Given the description of an element on the screen output the (x, y) to click on. 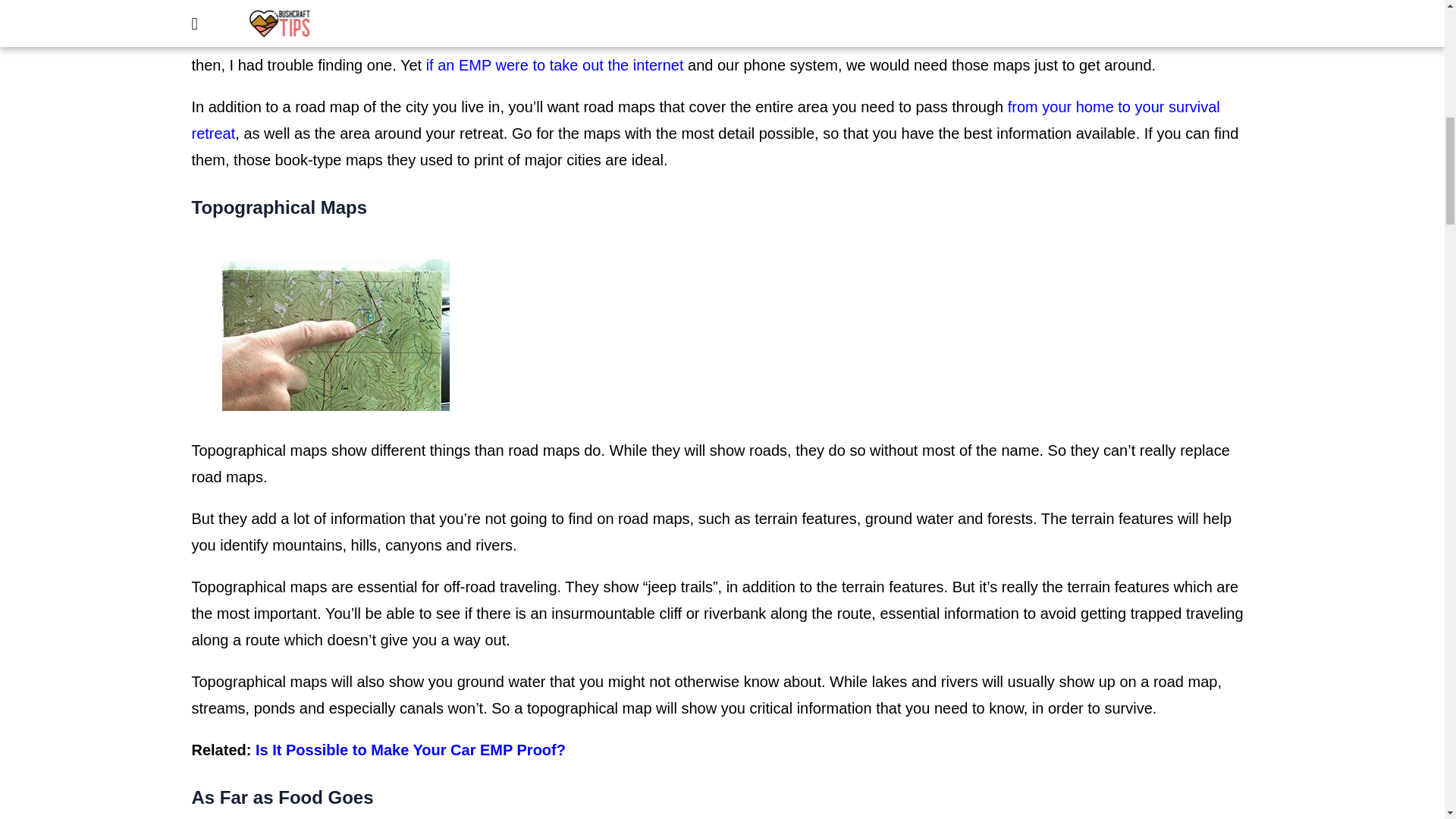
Is It Possible to Make Your Car EMP Proof? (411, 750)
if an EMP were to take out the internet (556, 64)
from your home to your survival retreat (705, 119)
